Given the description of an element on the screen output the (x, y) to click on. 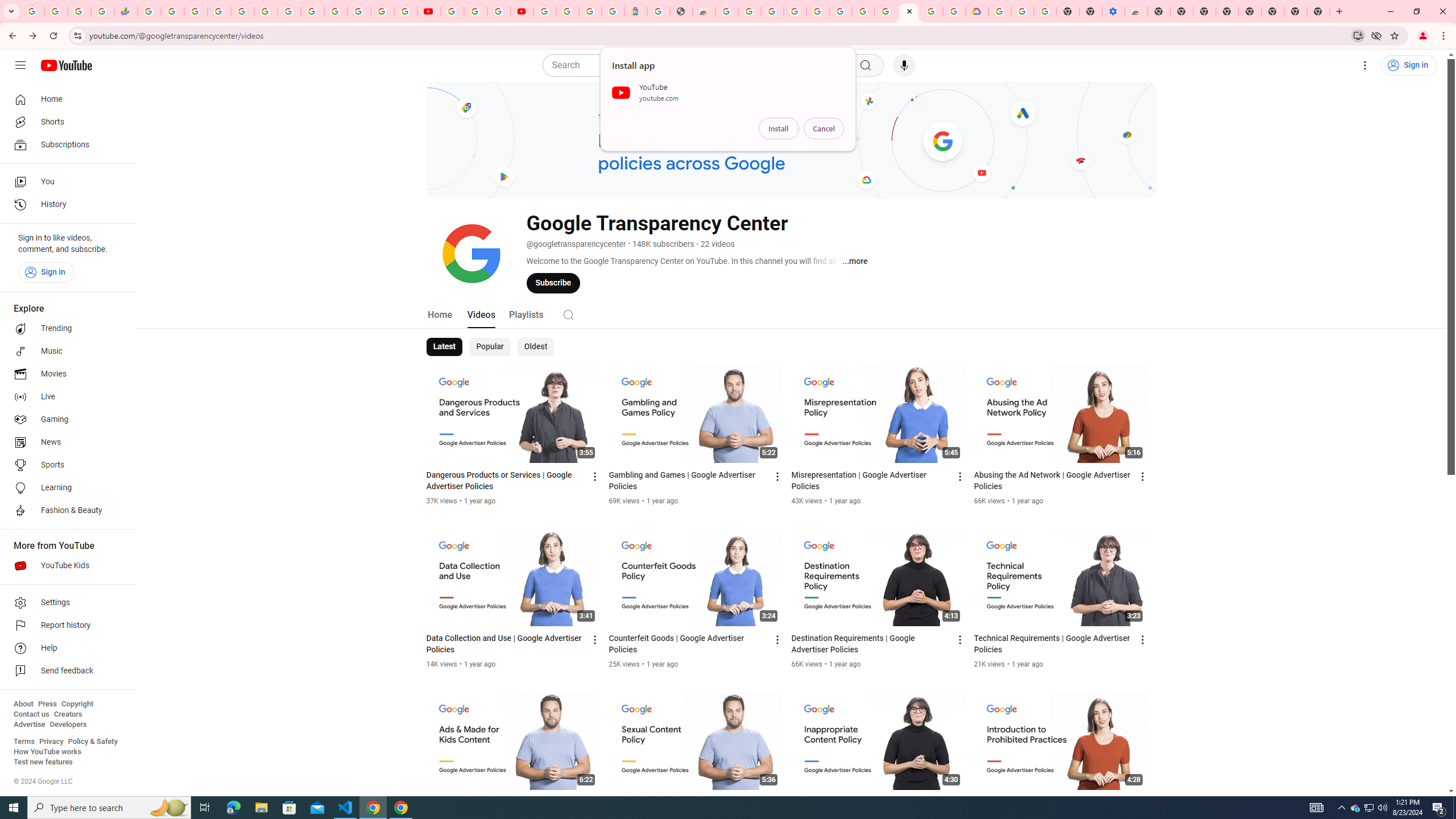
About (23, 703)
Google Account Help (475, 11)
Search (567, 314)
Latest (444, 346)
Sign in - Google Accounts (218, 11)
Android TV Policies and Guidelines - Transparency Center (288, 11)
Sign in - Google Accounts (335, 11)
Music (64, 350)
Copyright (77, 703)
